Given the description of an element on the screen output the (x, y) to click on. 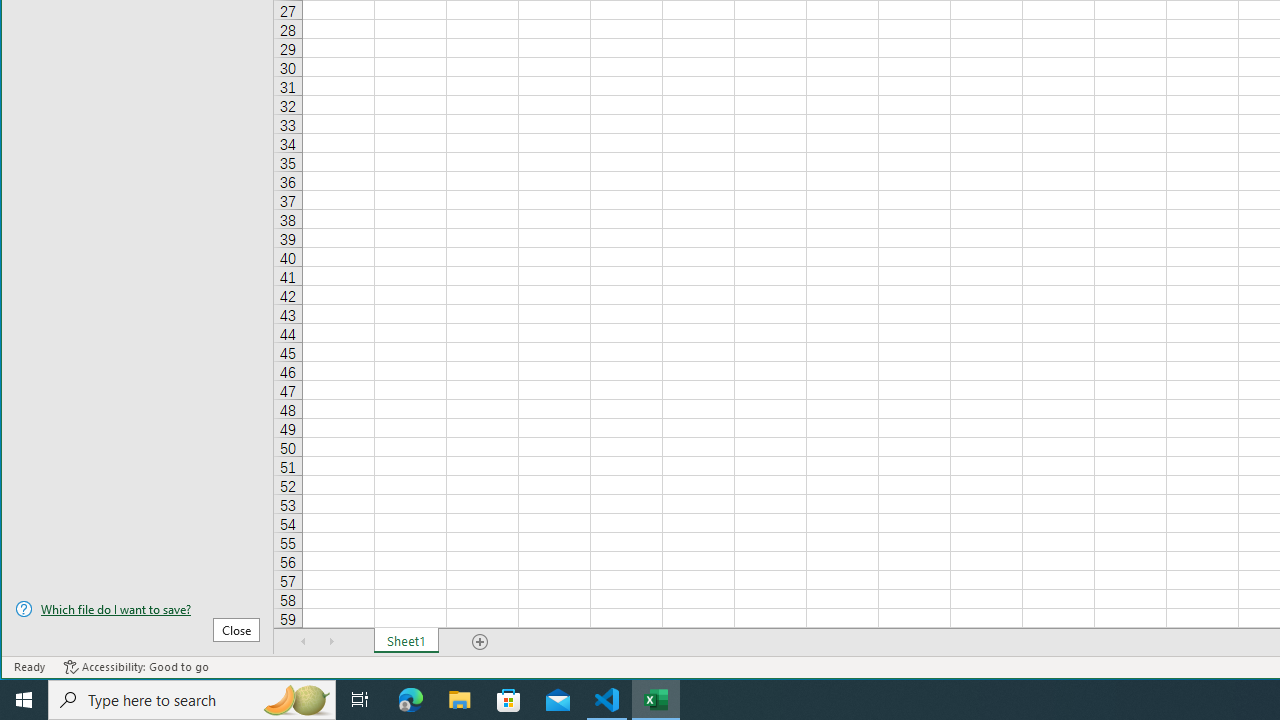
Start (24, 699)
Sheet1 (406, 641)
